Given the description of an element on the screen output the (x, y) to click on. 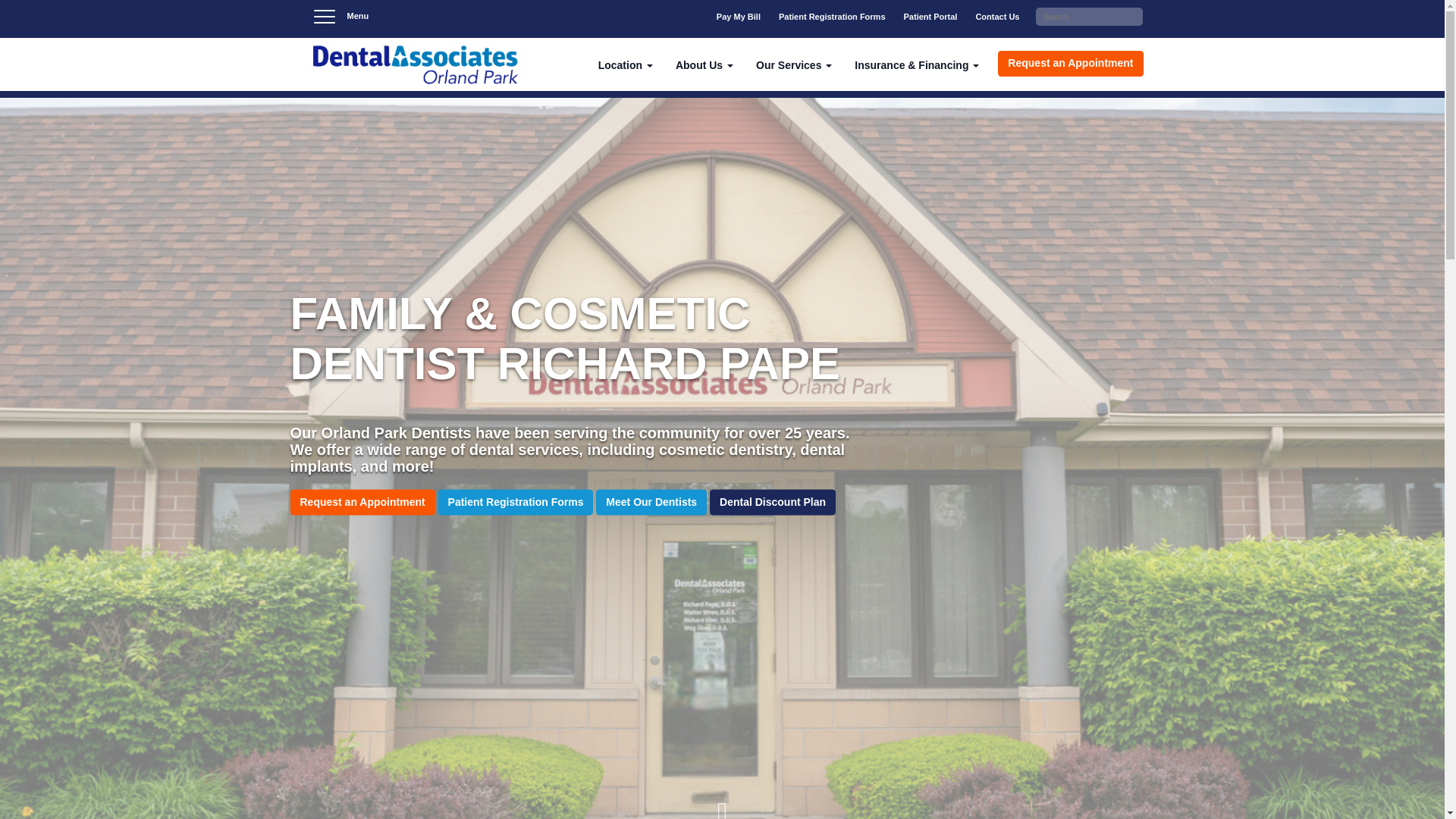
PAY MY BILL (115, 123)
LOCATION (115, 283)
OUR SERVICES (115, 341)
Contact Us (996, 18)
Patient Registration Forms (832, 18)
Patient Portal (930, 18)
Request an Appointment (87, 397)
PATIENT PORTAL (115, 182)
HOME (47, 73)
Dental Associates - Richard J. Pape, DDS (414, 64)
ABOUT US (115, 312)
PATIENT REGISTRATION FORMS (115, 153)
Location (624, 63)
CONTACT US (115, 211)
Pay My Bill (738, 18)
